Given the description of an element on the screen output the (x, y) to click on. 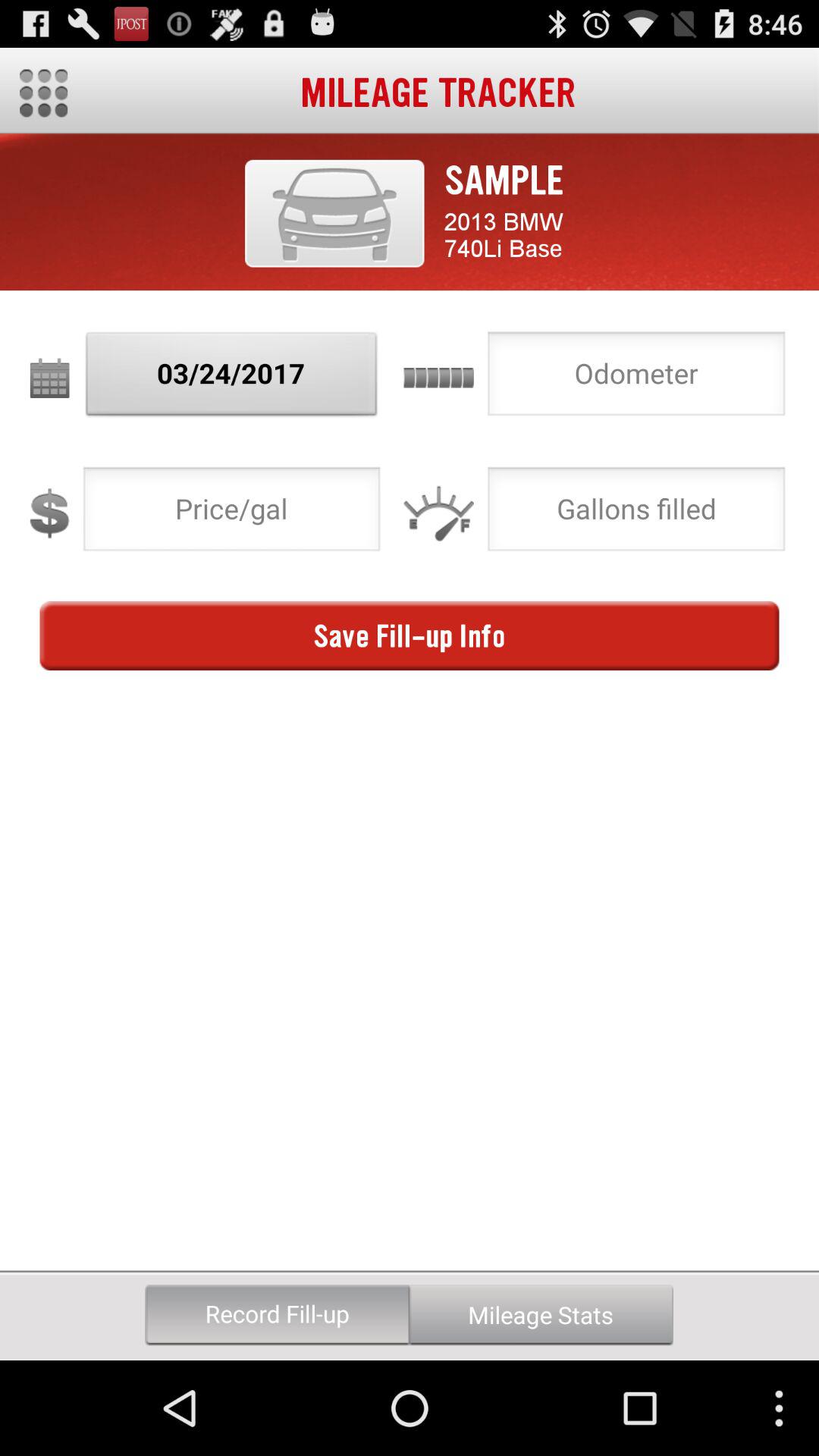
choose the item next to sample  item (334, 213)
